Given the description of an element on the screen output the (x, y) to click on. 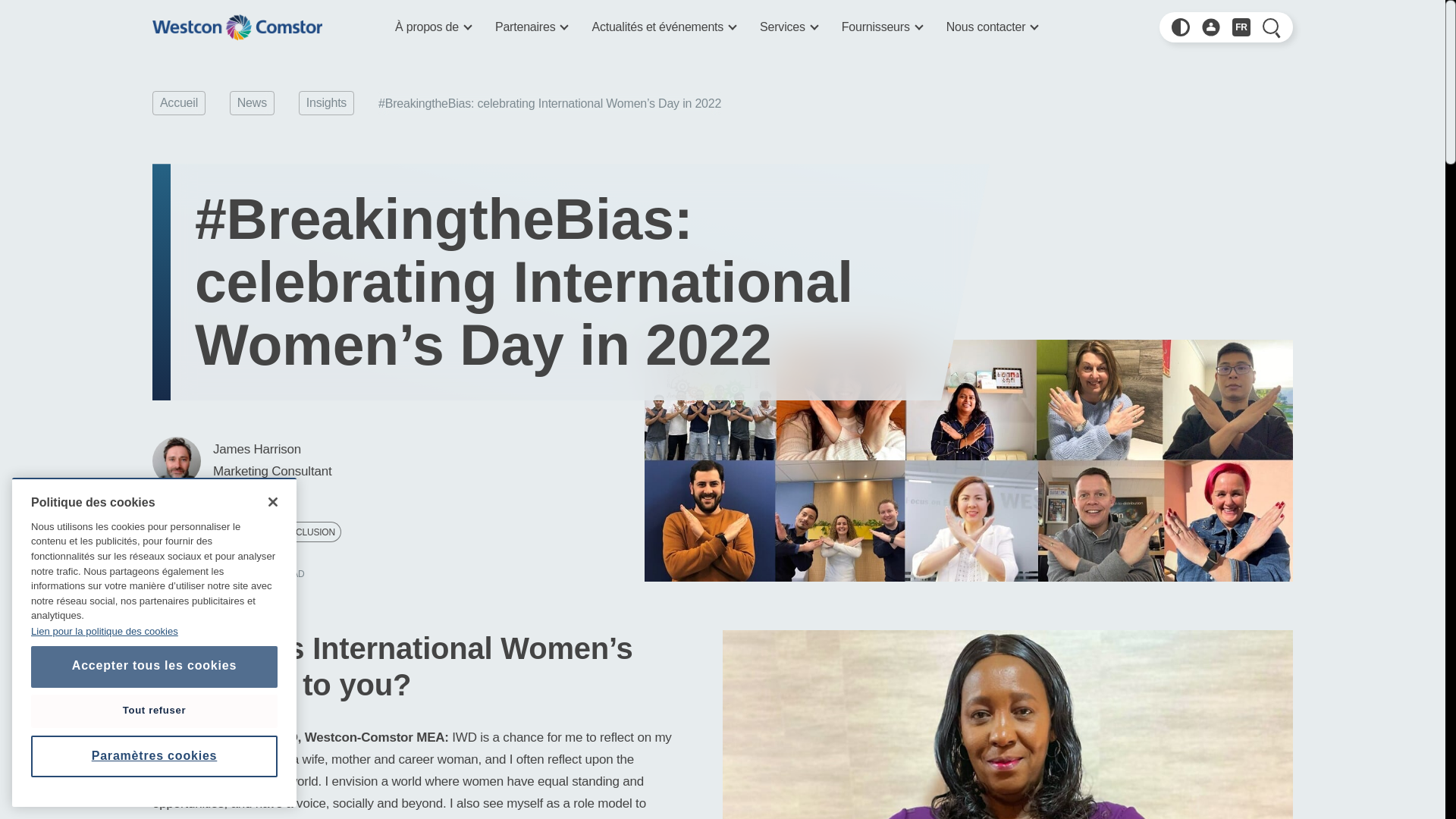
Partenaires (531, 27)
Fournisseurs (881, 27)
Skip to main content (193, 1)
Services (788, 27)
